Given the description of an element on the screen output the (x, y) to click on. 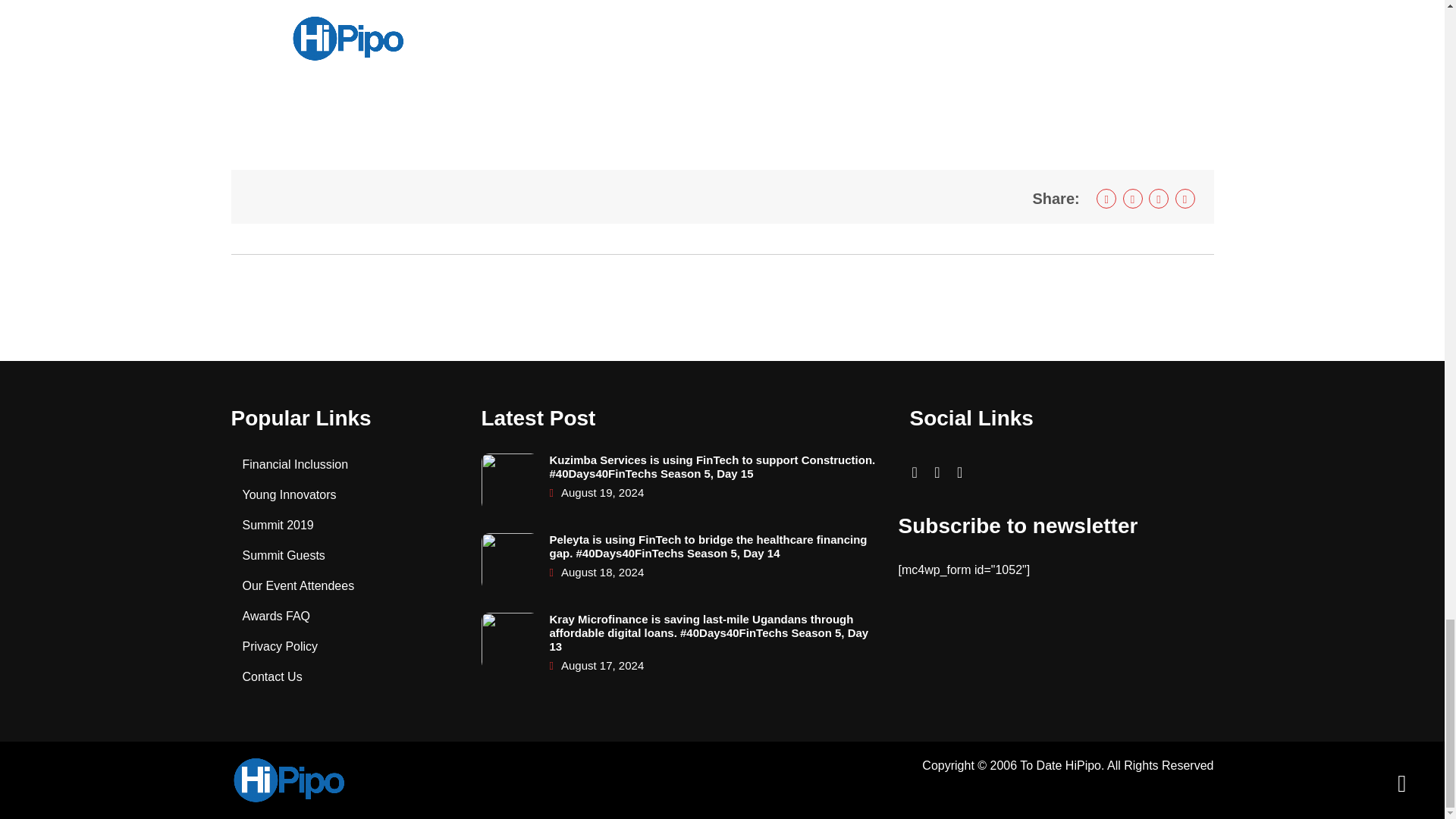
Financial Inclussion (296, 463)
Summit Guests (283, 554)
Contact Us (272, 676)
Awards FAQ (277, 615)
Awards FAQ (277, 615)
Privacy Policy (280, 645)
Financial Inclussion (296, 463)
Young Innovators (289, 494)
Summit 2019 (278, 524)
Contact Us (272, 676)
